Given the description of an element on the screen output the (x, y) to click on. 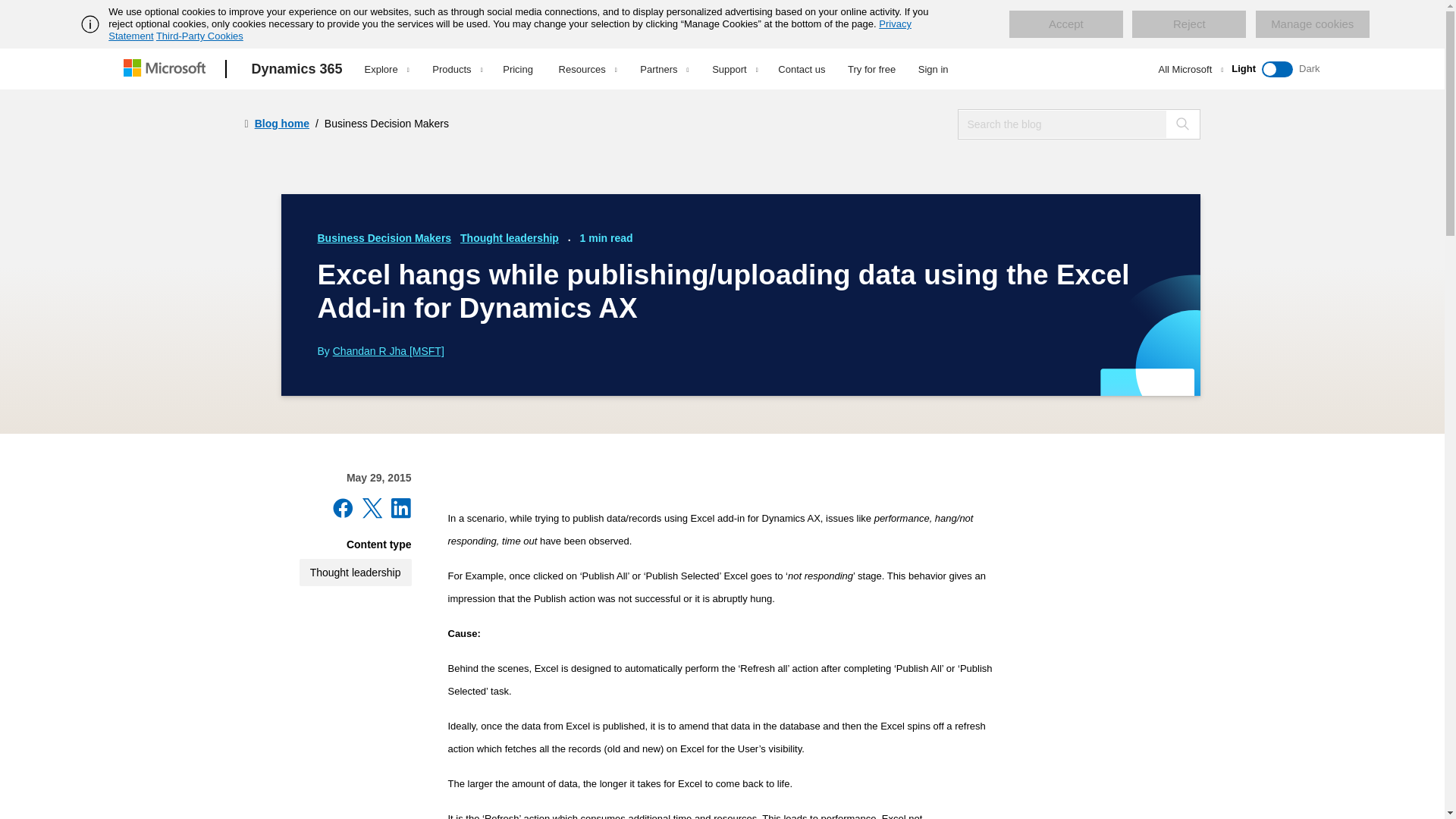
Products (457, 69)
Dynamics 365 (297, 69)
Privacy Statement (509, 29)
Explore (387, 69)
Manage cookies (1312, 23)
Third-Party Cookies (199, 35)
Accept (1065, 23)
Microsoft (167, 69)
Reject (1189, 23)
